Given the description of an element on the screen output the (x, y) to click on. 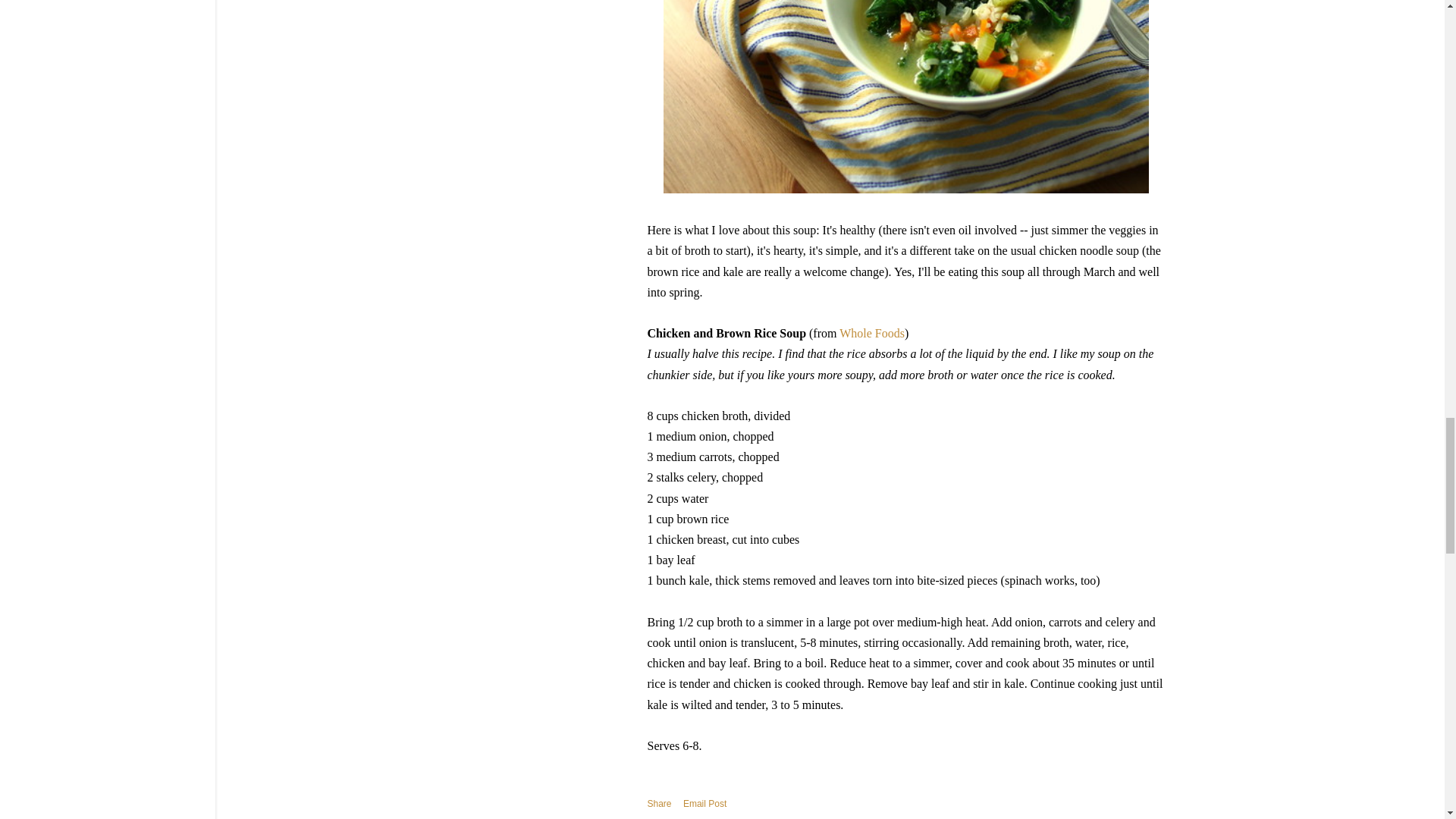
Email Post (704, 803)
Share (659, 803)
Whole Foods (872, 332)
